Given the description of an element on the screen output the (x, y) to click on. 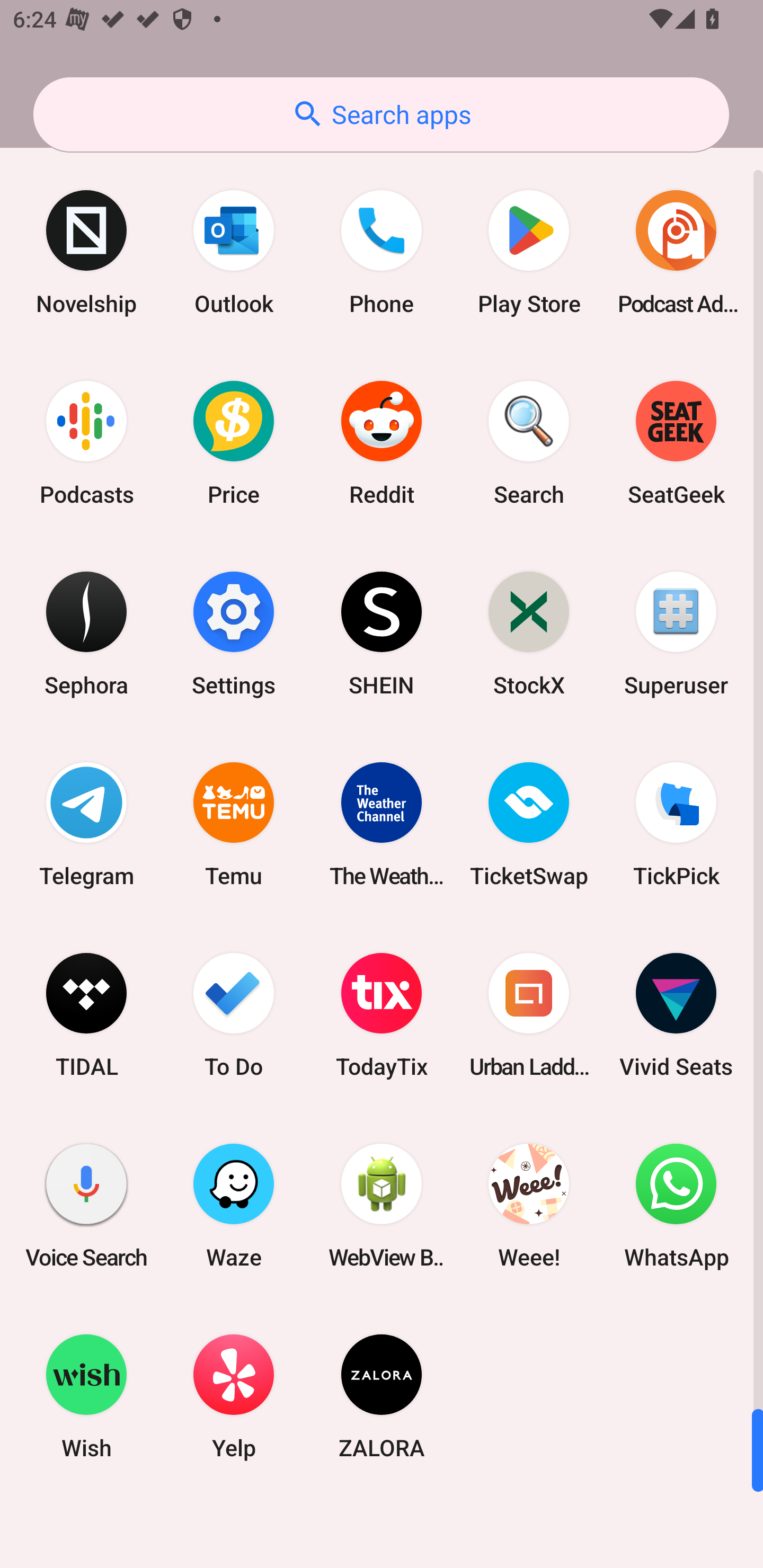
Yelp (233, 1396)
